Given the description of an element on the screen output the (x, y) to click on. 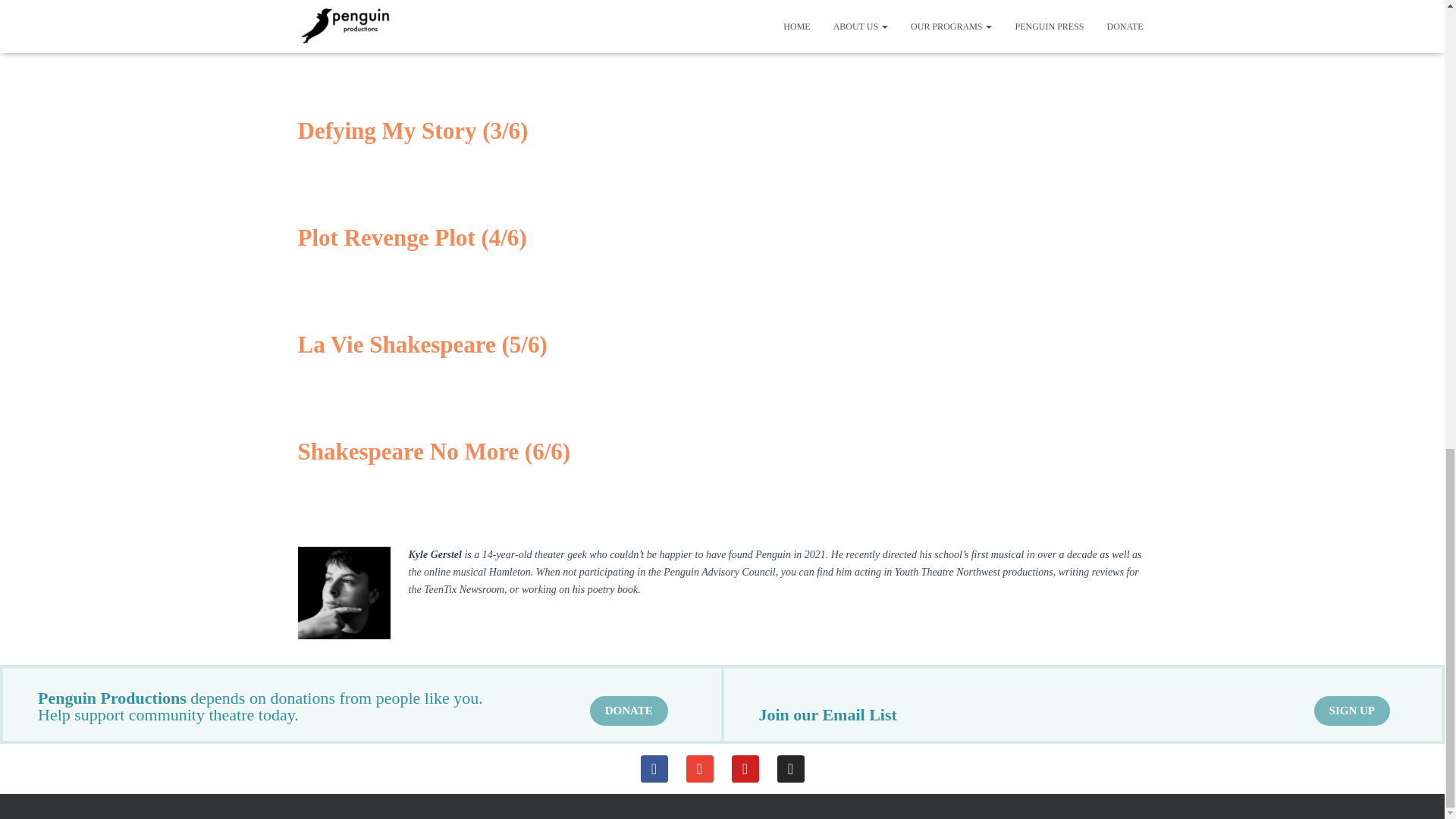
DONATE (628, 710)
OUR PROGRAMS (521, 785)
WELCOME TO THE LANDFILL (740, 785)
PENGUIN PRESS (617, 785)
SIGN UP (1352, 710)
ABOUT US (322, 785)
DONATE (389, 785)
HOME (446, 785)
